Given the description of an element on the screen output the (x, y) to click on. 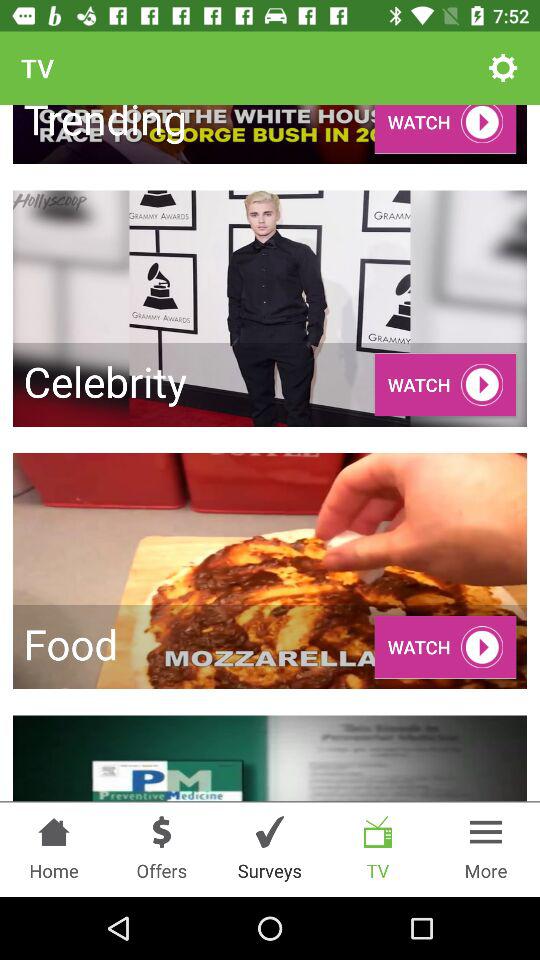
tap app next to the tv icon (503, 67)
